Given the description of an element on the screen output the (x, y) to click on. 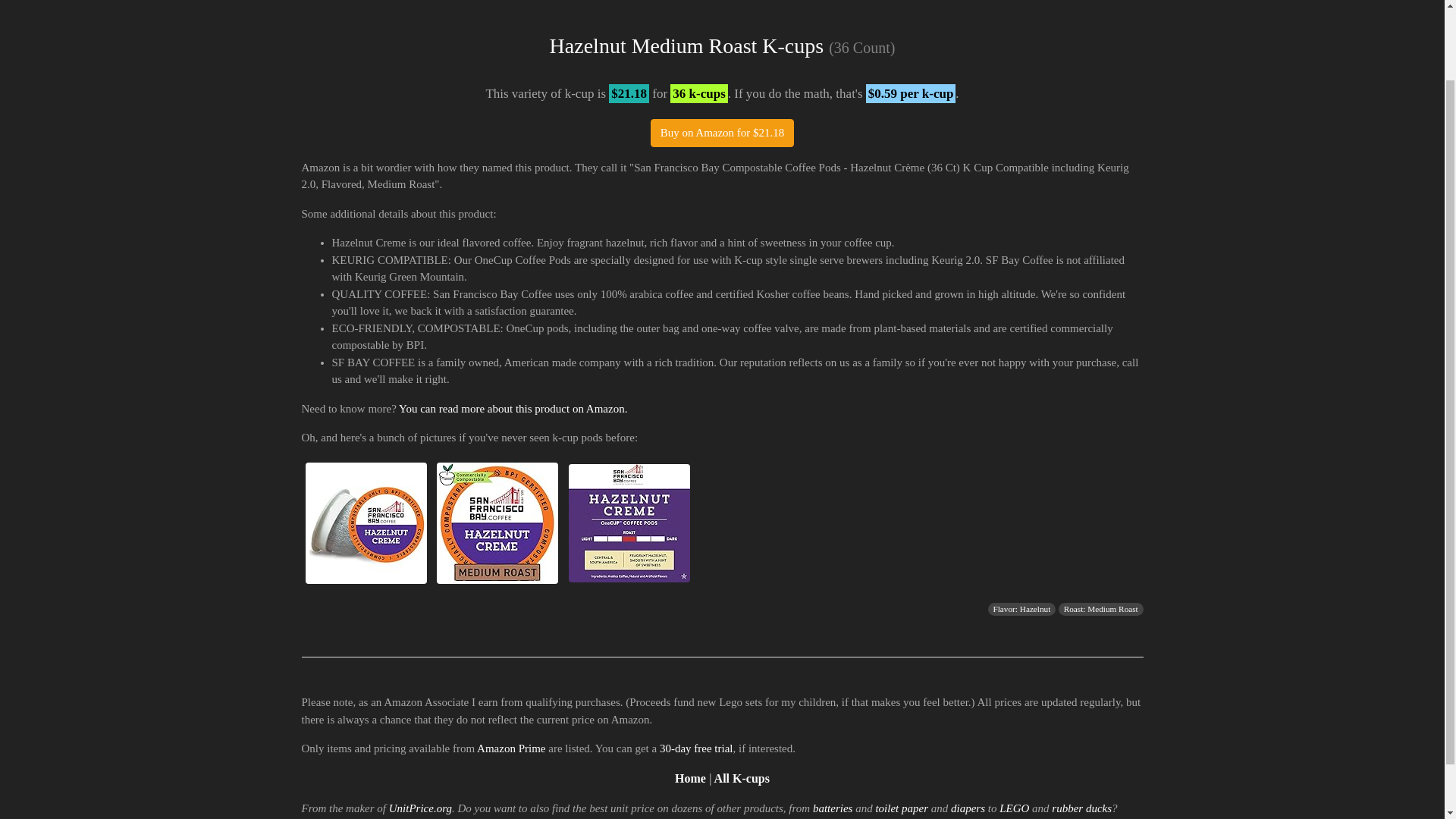
diapers (967, 808)
LEGO (1013, 808)
Flavor: Hazelnut (1020, 608)
Roast: Medium Roast (1101, 608)
You can read more about this product on Amazon. (512, 408)
All K-cups (742, 778)
Amazon Prime (510, 748)
Home (690, 778)
rubber ducks (1081, 808)
toilet paper (901, 808)
batteries (832, 808)
30-day free trial (696, 748)
UnitPrice.org (419, 808)
